Given the description of an element on the screen output the (x, y) to click on. 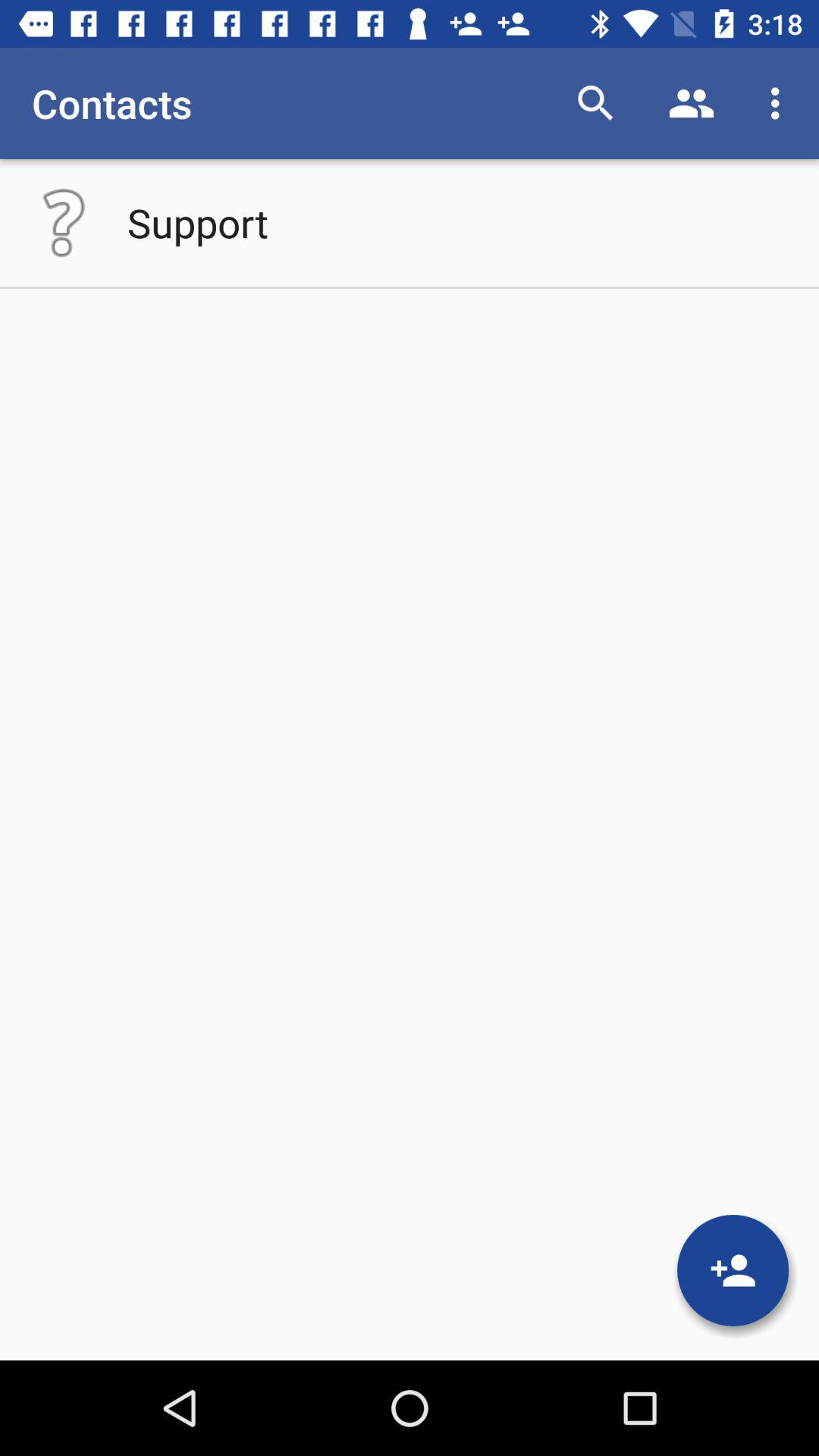
contact support (63, 222)
